Given the description of an element on the screen output the (x, y) to click on. 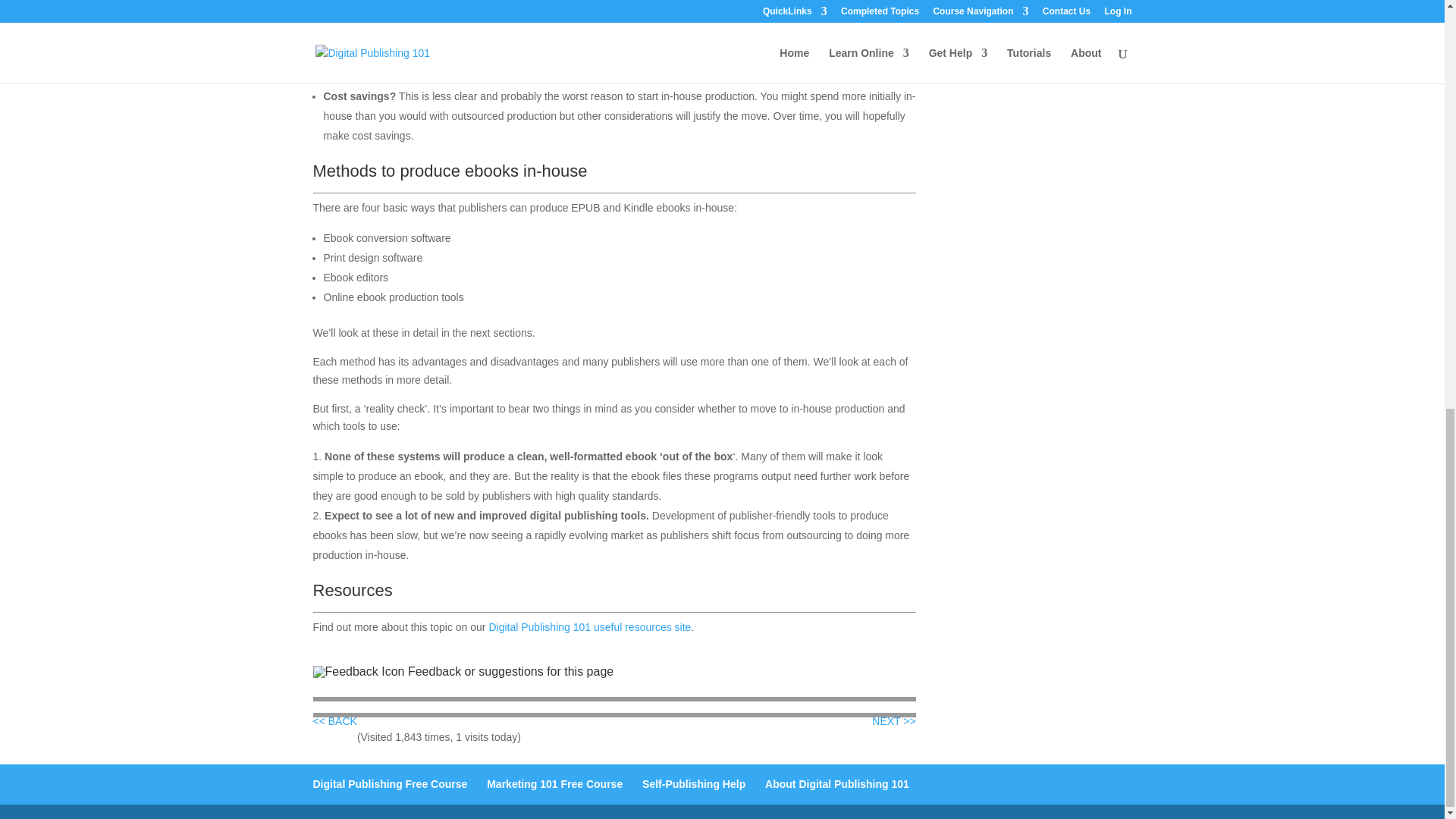
Digital Publishing 101 useful resources site (588, 626)
Contact course tutor (509, 671)
Hiring ebook designers (334, 720)
Feedback or suggestions for this page (509, 671)
Ebook conversion software (893, 720)
Further resources (588, 626)
Feedback Icon (358, 671)
